Given the description of an element on the screen output the (x, y) to click on. 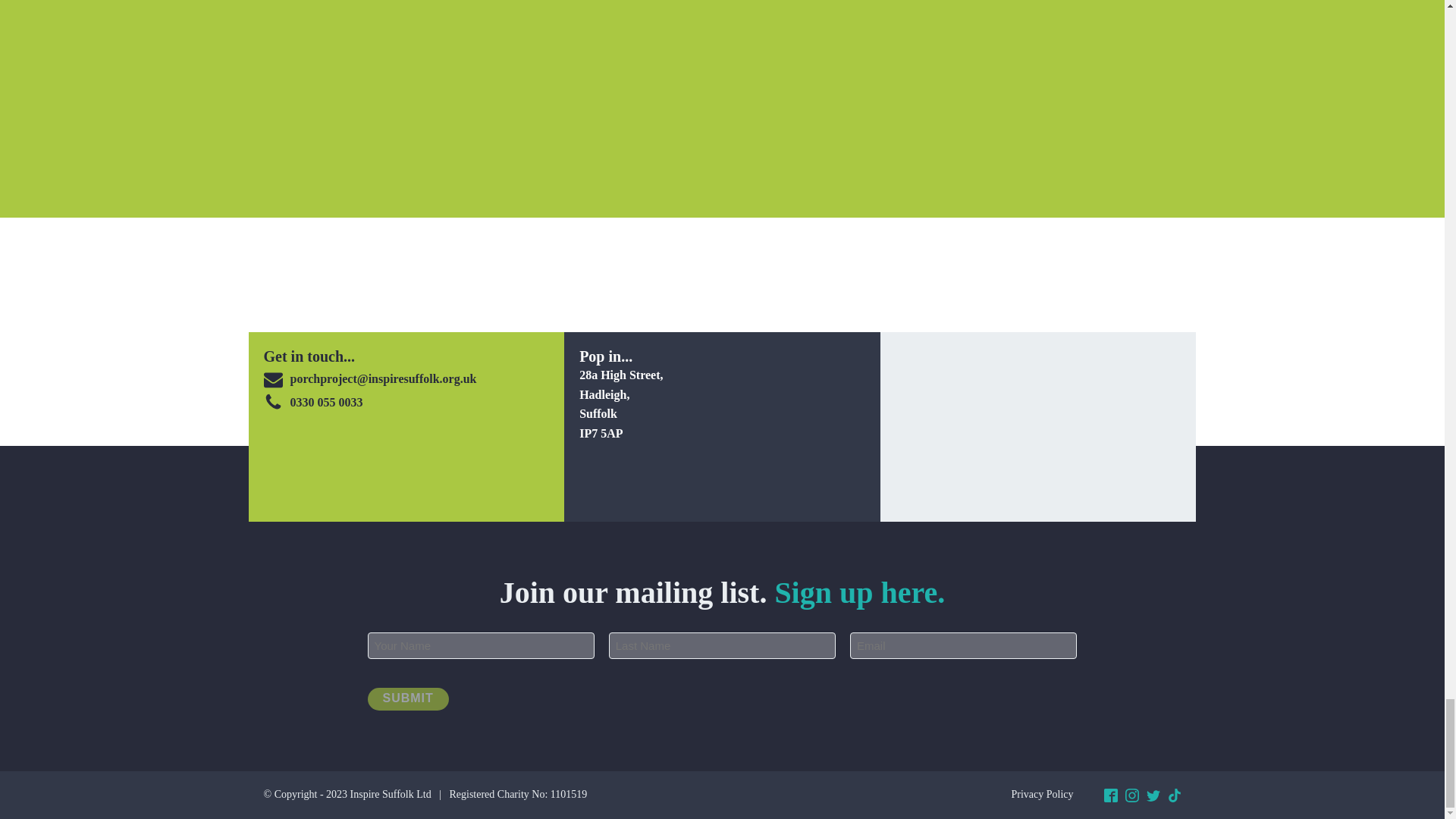
Submit (407, 698)
